Given the description of an element on the screen output the (x, y) to click on. 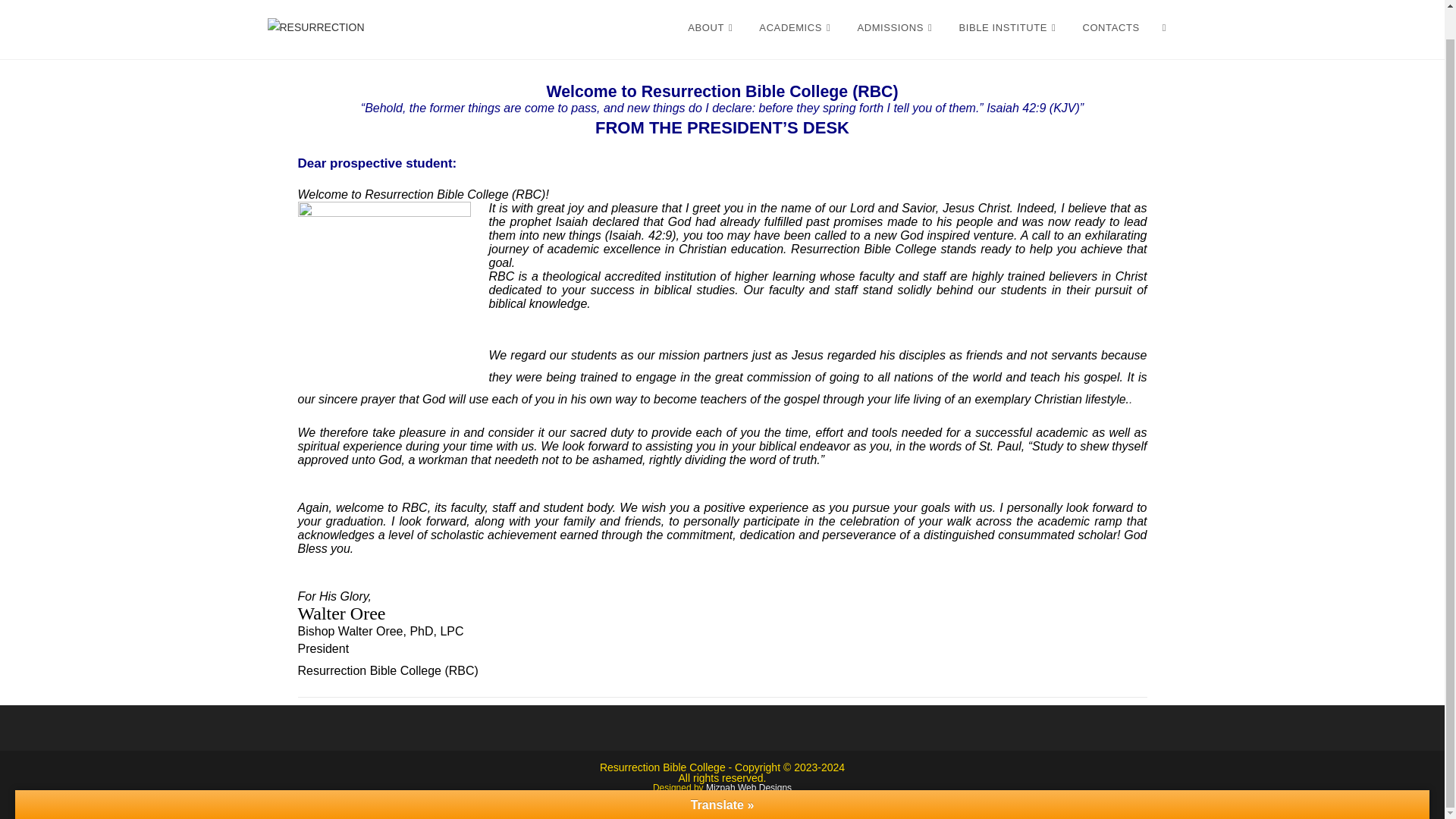
ADMISSIONS (896, 28)
BIBLE INSTITUTE (1008, 28)
HOME (643, 28)
CONTACTS (1110, 28)
ACADEMICS (796, 28)
ABOUT (712, 28)
